Given the description of an element on the screen output the (x, y) to click on. 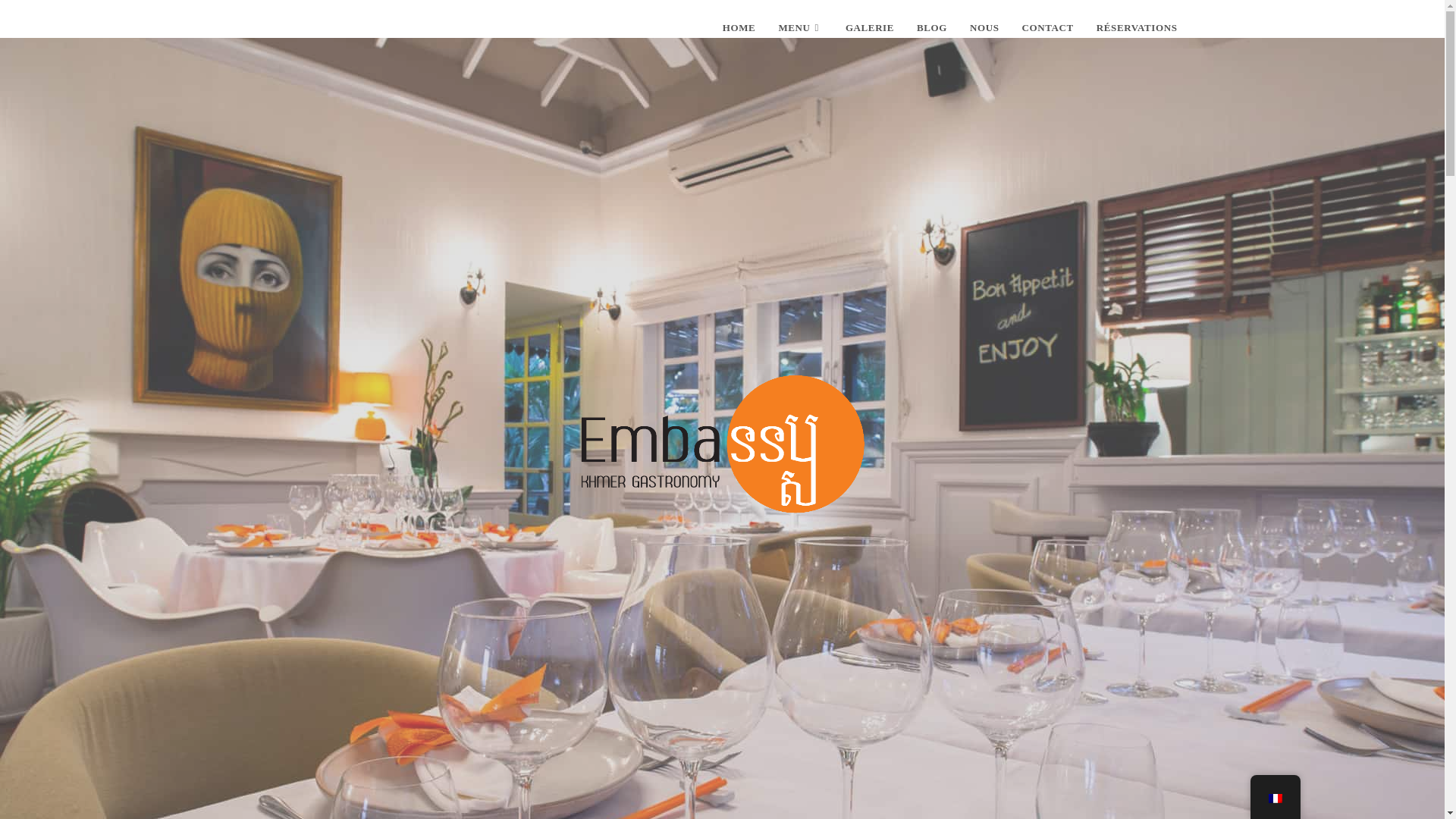
MENU (799, 28)
NOUS (984, 28)
GALERIE (869, 28)
CONTACT (1047, 28)
HOME (739, 28)
BLOG (931, 28)
